Given the description of an element on the screen output the (x, y) to click on. 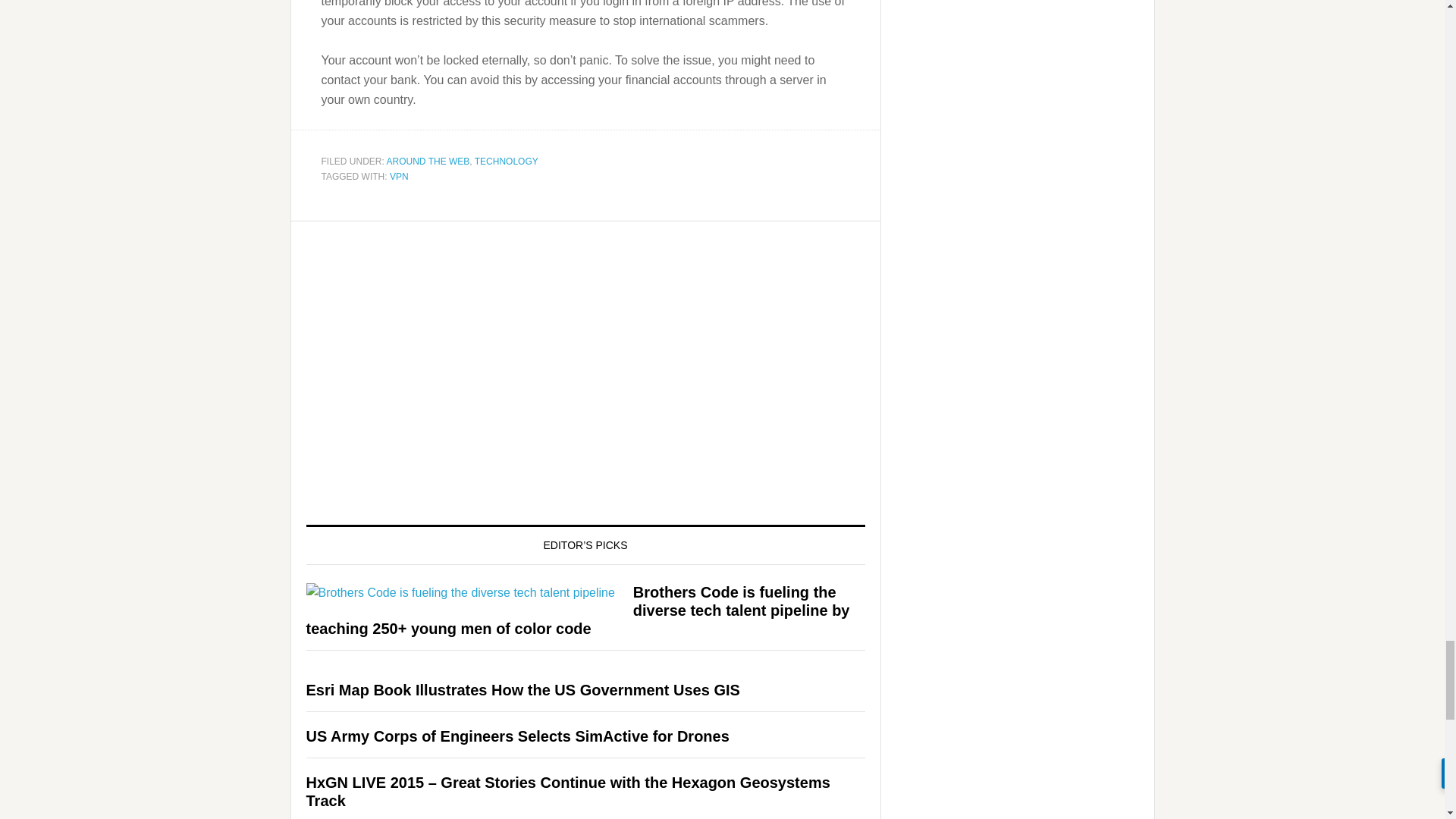
VPN (399, 176)
Esri Map Book Illustrates How the US Government Uses GIS (522, 689)
US Army Corps of Engineers Selects SimActive for Drones (517, 736)
TECHNOLOGY (506, 161)
AROUND THE WEB (428, 161)
